Given the description of an element on the screen output the (x, y) to click on. 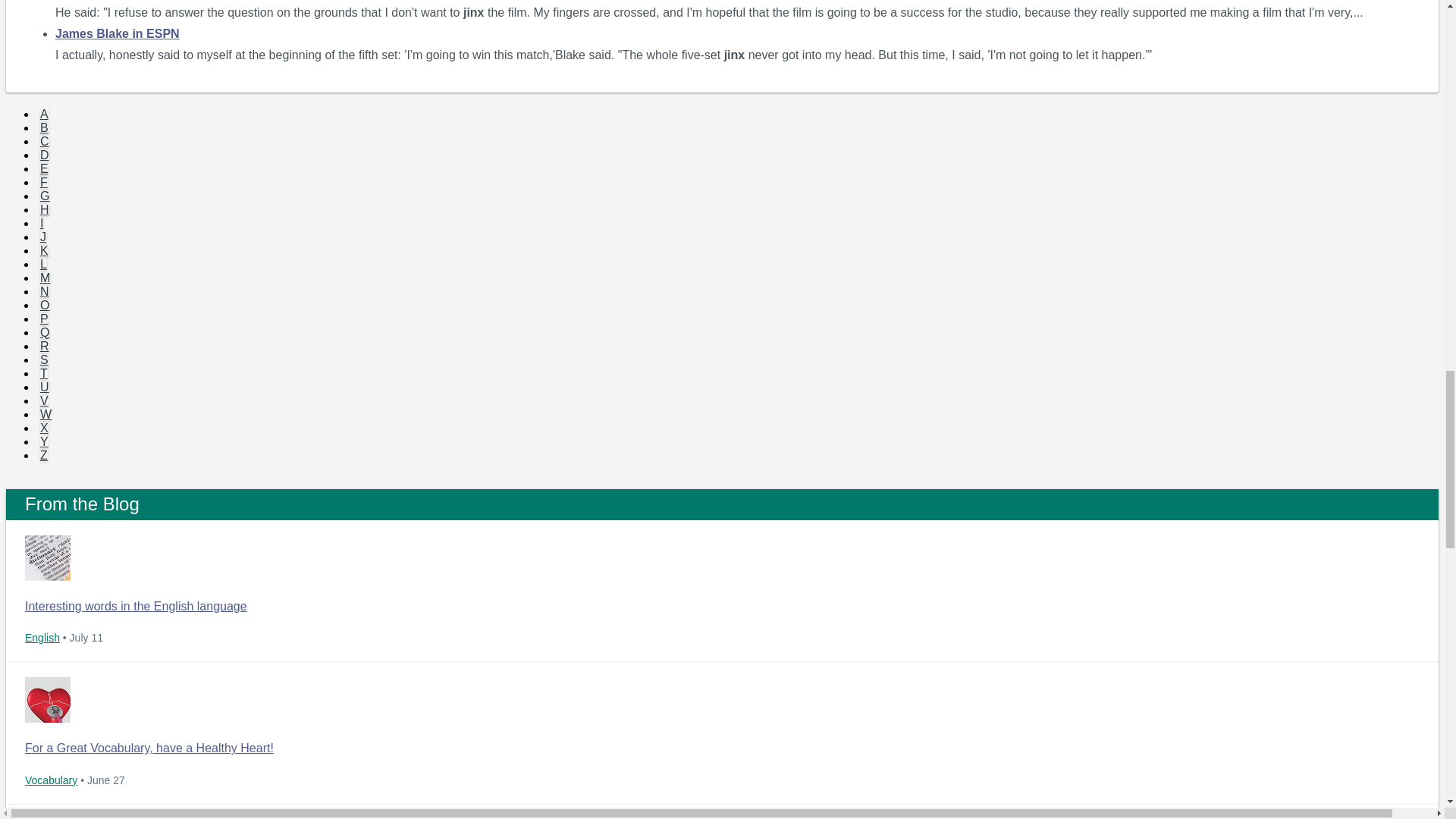
James Blake in ESPN (117, 33)
